Given the description of an element on the screen output the (x, y) to click on. 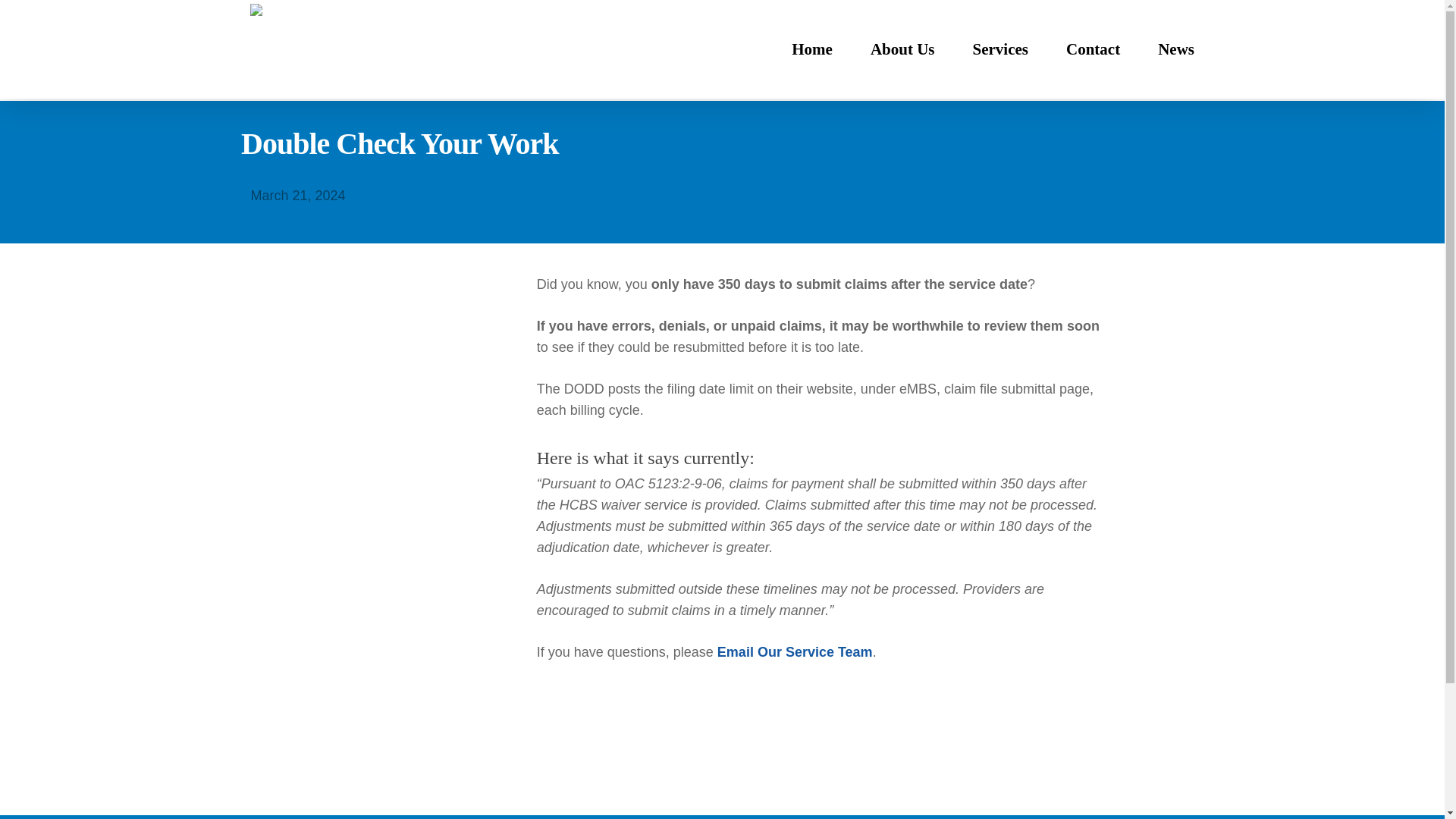
Home (812, 48)
About Us (902, 48)
Services (999, 48)
Email Our Service Team (794, 652)
News (1175, 48)
Contact (1092, 48)
